Given the description of an element on the screen output the (x, y) to click on. 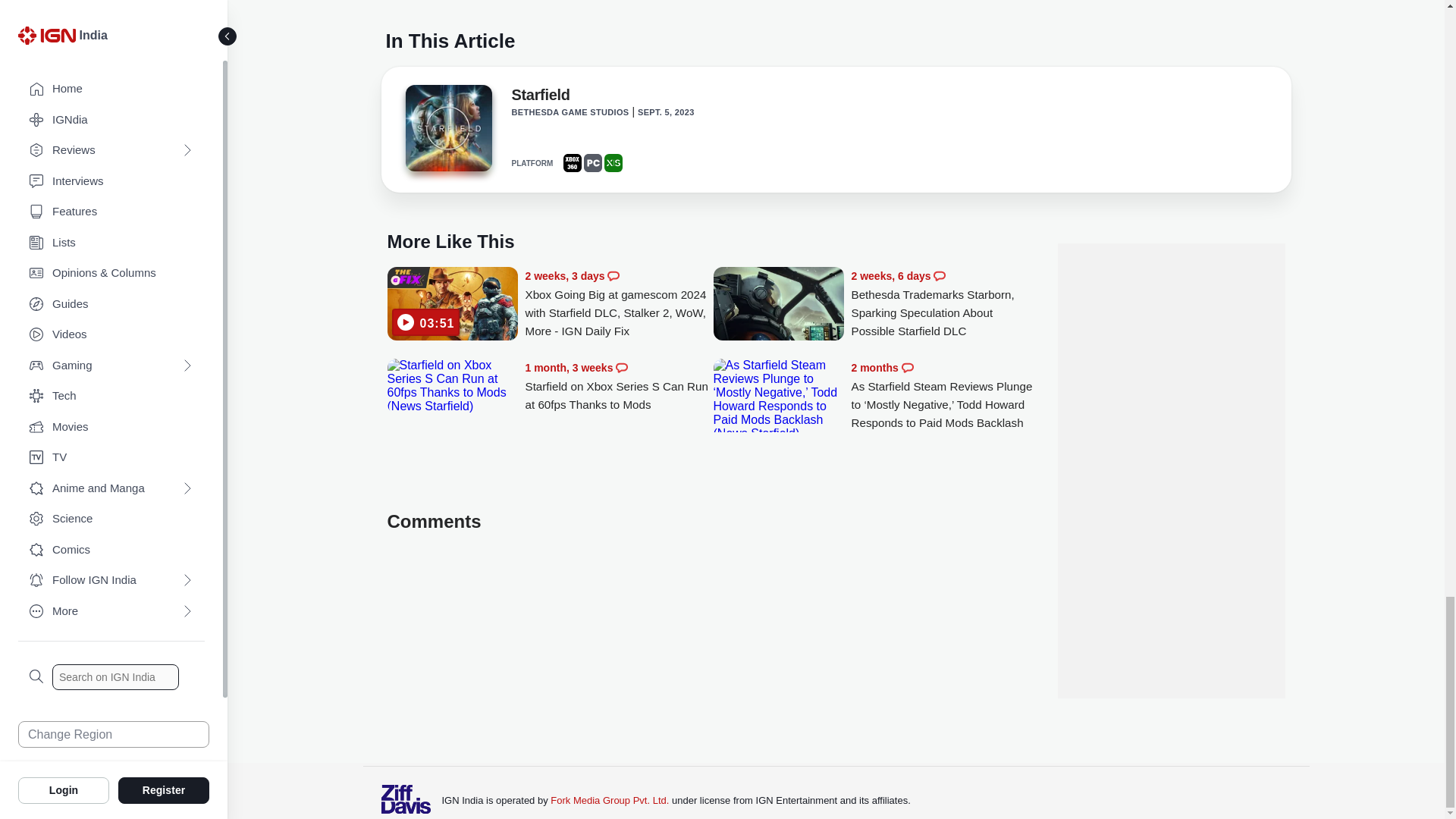
Starfield on Xbox Series S Can Run at 60fps Thanks to Mods (618, 386)
Starfield (448, 128)
Starfield on Xbox Series S Can Run at 60fps Thanks to Mods (451, 385)
Starfield (448, 132)
Starfield (540, 97)
